Given the description of an element on the screen output the (x, y) to click on. 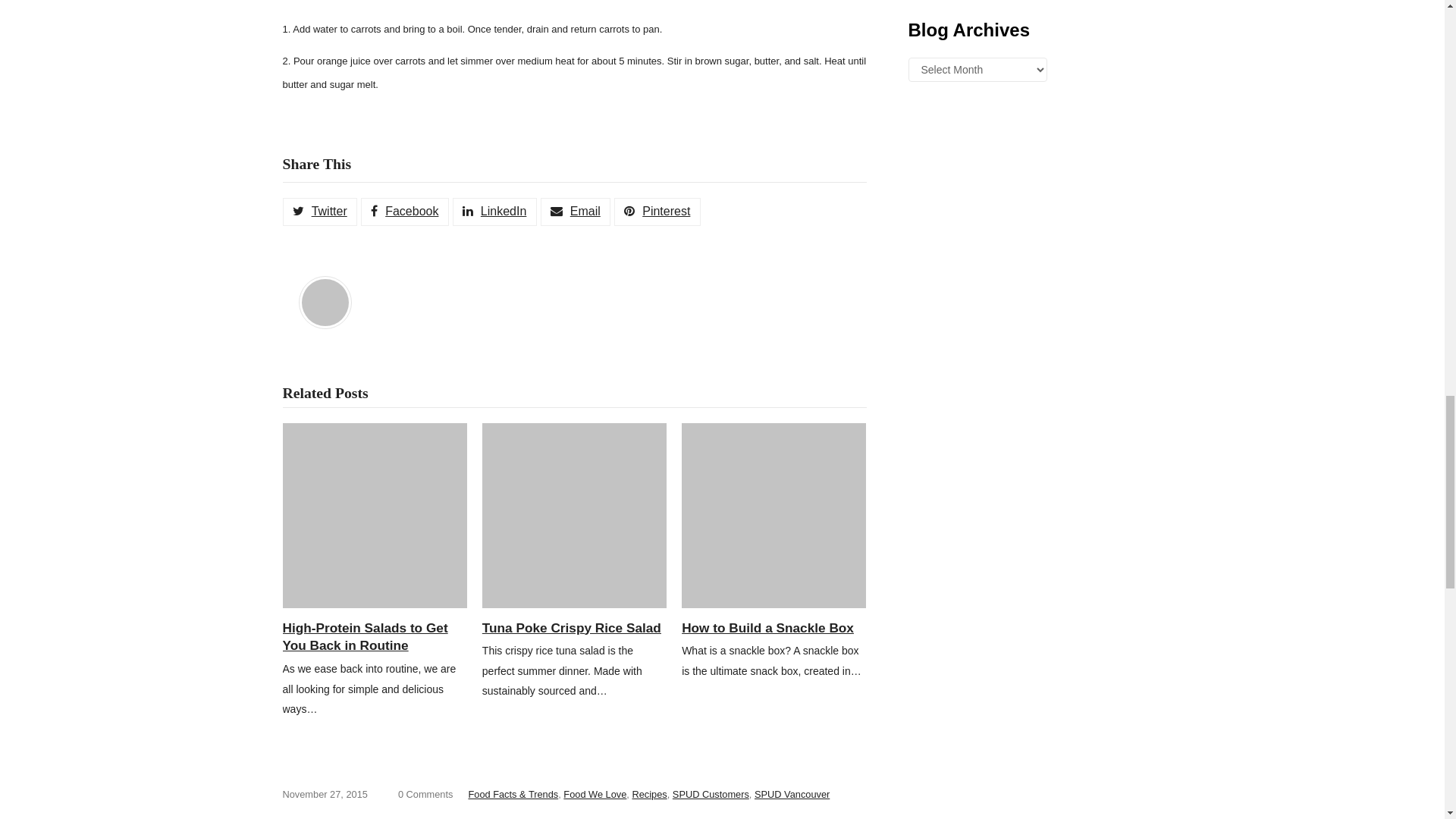
Visit Author Page (325, 300)
Tuna Poke Crispy Rice Salad (573, 515)
0 Comments (424, 794)
How to Build a Snackle Box (773, 515)
High-Protein Salads to Get You Back in Routine (373, 515)
